Given the description of an element on the screen output the (x, y) to click on. 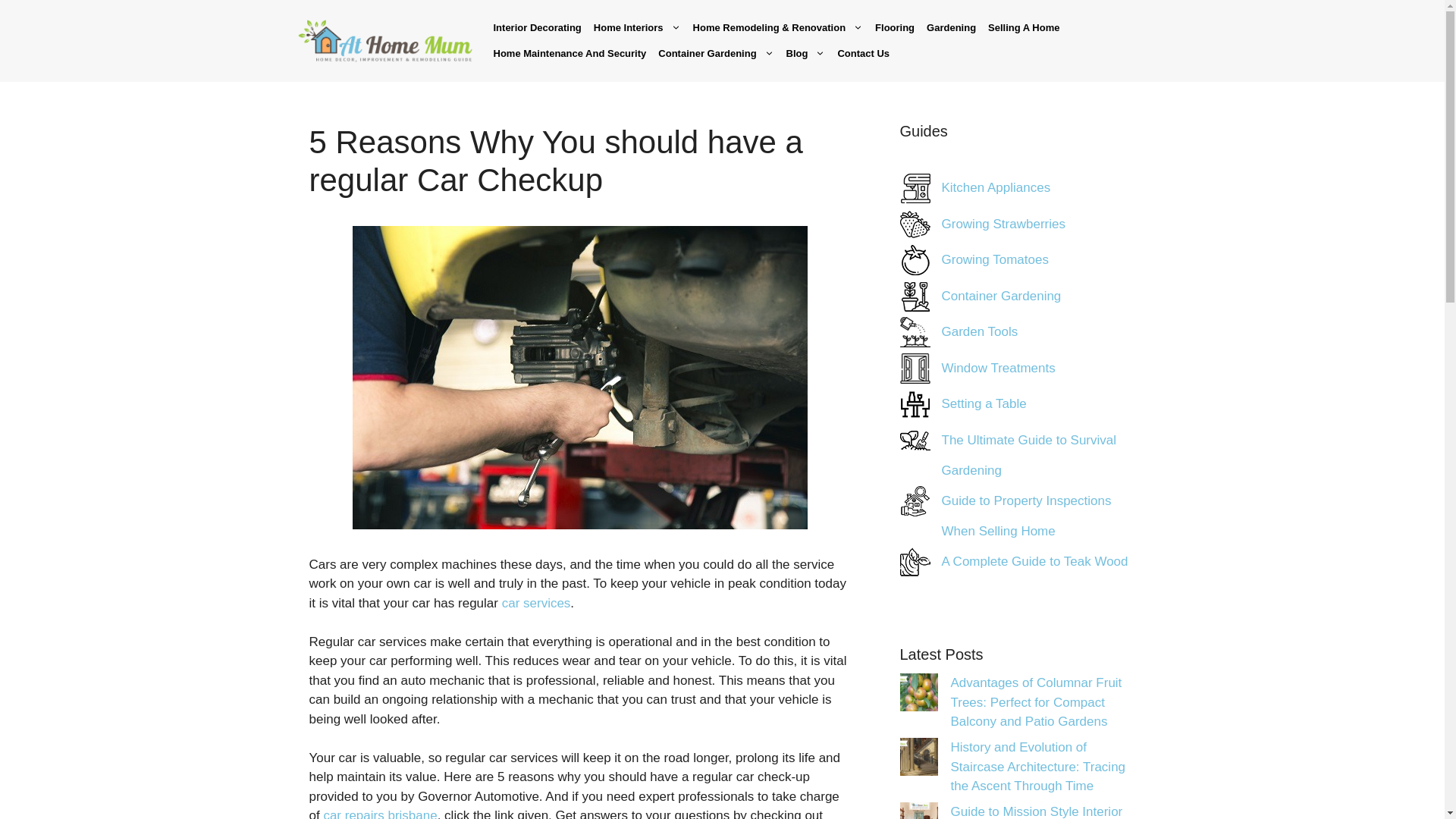
Home Maintenance And Security (569, 53)
Selling A Home (1023, 27)
Guide to Property Inspections When Selling Home (914, 500)
A Complete Guide to Teak Wood (1035, 560)
Flooring (894, 27)
A Complete Guide to Teak Wood (914, 561)
Home Interiors (637, 27)
Interior Decorating (536, 27)
The Ultimate Guide to Survival Gardening (1029, 454)
Container Gardening (715, 53)
Gardening (950, 27)
Guide to Property Inspections When Selling Home (1027, 515)
The Ultimate Guide to Survival Gardening (914, 440)
